Given the description of an element on the screen output the (x, y) to click on. 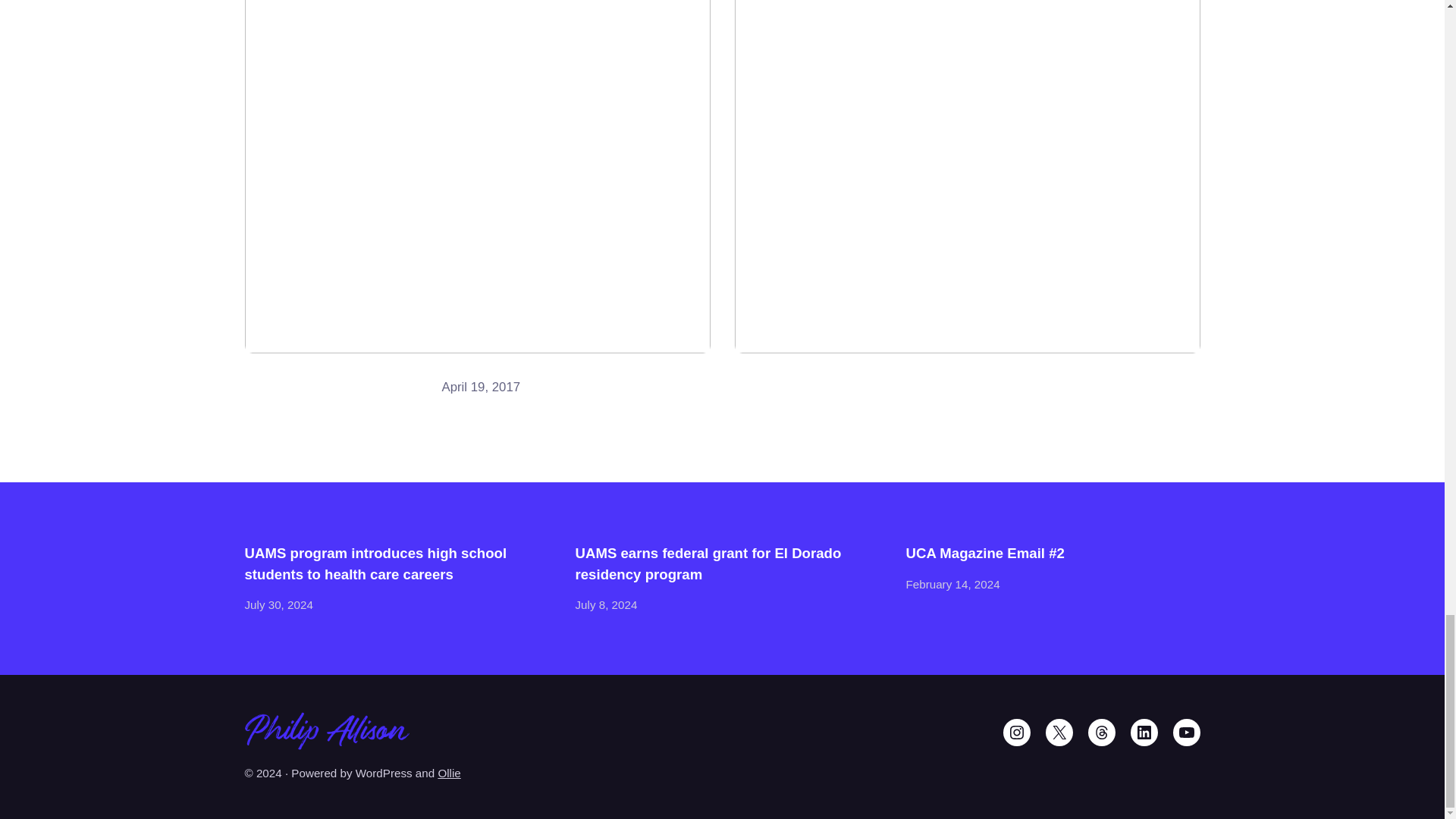
UAMS earns federal grant for El Dorado residency program (722, 563)
Instagram (1016, 732)
Ollie (449, 772)
Threads (1101, 732)
LinkedIn (1143, 732)
X (1058, 732)
YouTube (1185, 732)
